Given the description of an element on the screen output the (x, y) to click on. 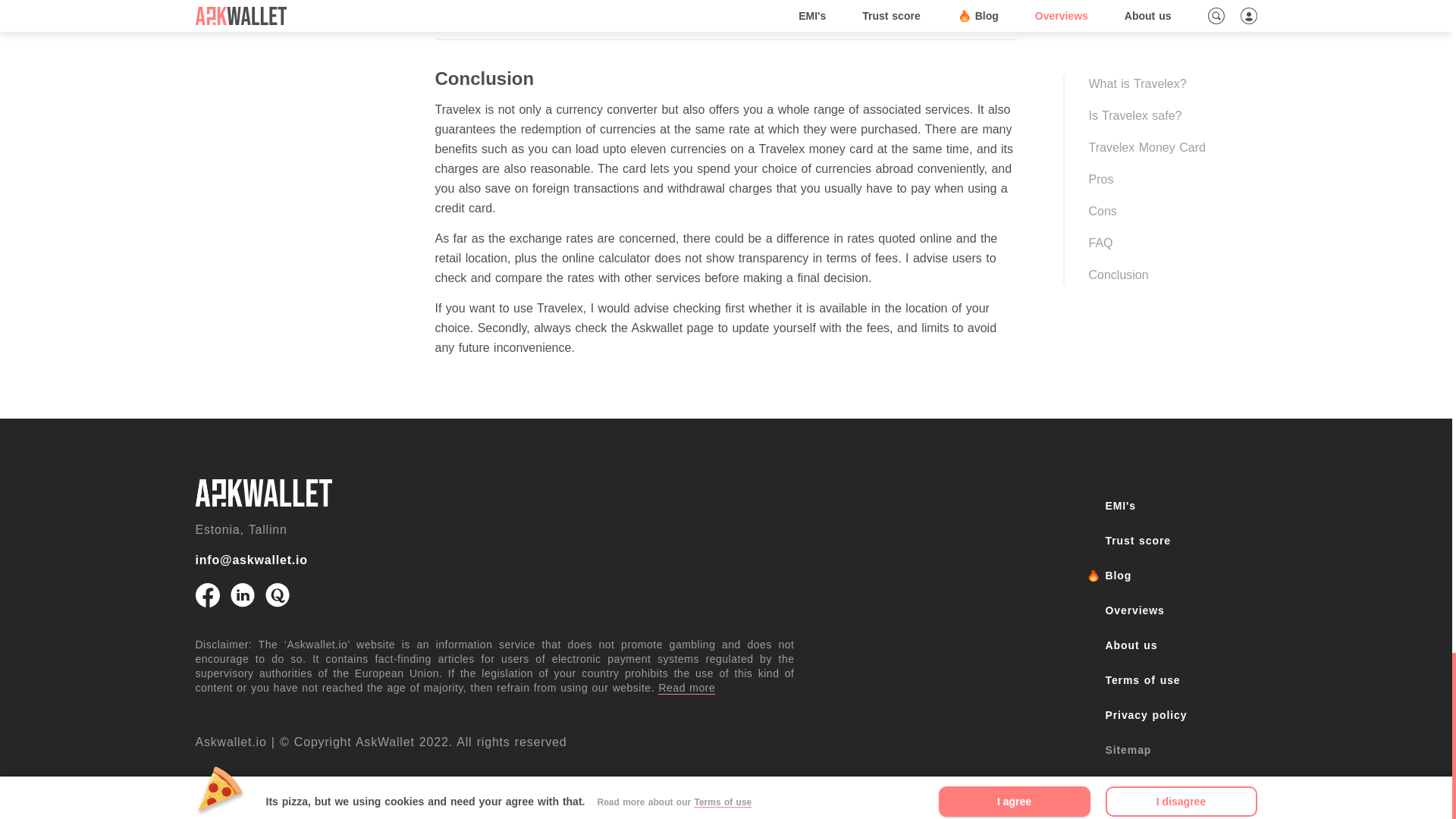
Sitemap (1181, 750)
AskWallet LinkedIn (242, 595)
AskWallet Facebook (207, 595)
Terms of use (1181, 679)
Blog (1181, 575)
EMI's (1181, 505)
Read more (686, 687)
AskWallet Quora (276, 595)
EMI's (263, 492)
About us (1181, 645)
